Given the description of an element on the screen output the (x, y) to click on. 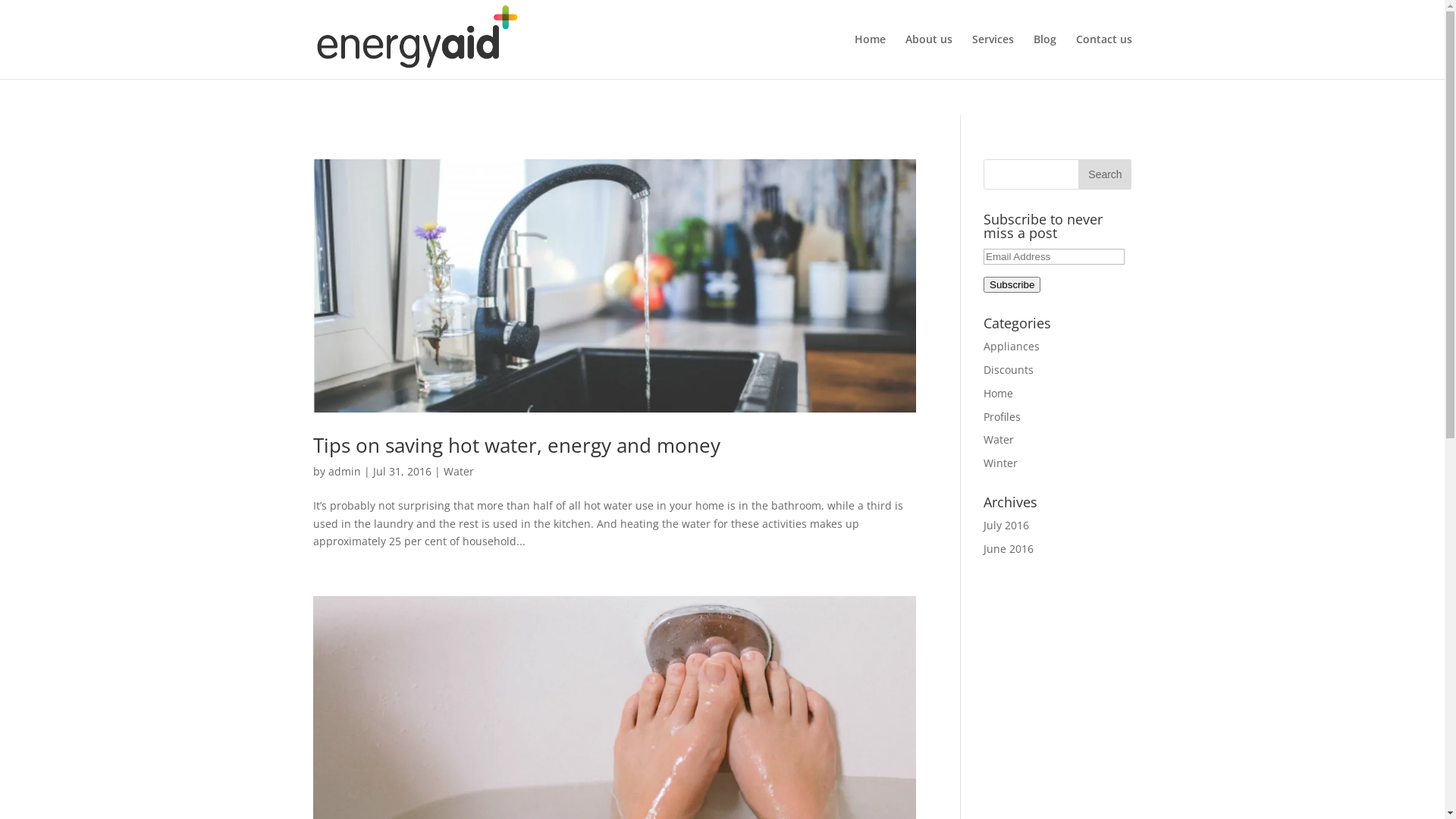
Water Element type: text (457, 471)
June 2016 Element type: text (1008, 548)
Search Element type: text (1104, 174)
Subscribe Element type: text (1011, 284)
Contact us Element type: text (1103, 56)
Water Element type: text (998, 439)
Appliances Element type: text (1011, 345)
Profiles Element type: text (1001, 416)
July 2016 Element type: text (1006, 524)
Home Element type: text (868, 56)
Winter Element type: text (1000, 462)
Tips on saving hot water, energy and money Element type: text (515, 444)
About us Element type: text (928, 56)
Blog Element type: text (1043, 56)
Services Element type: text (992, 56)
admin Element type: text (343, 471)
Home Element type: text (998, 392)
Discounts Element type: text (1008, 369)
